Given the description of an element on the screen output the (x, y) to click on. 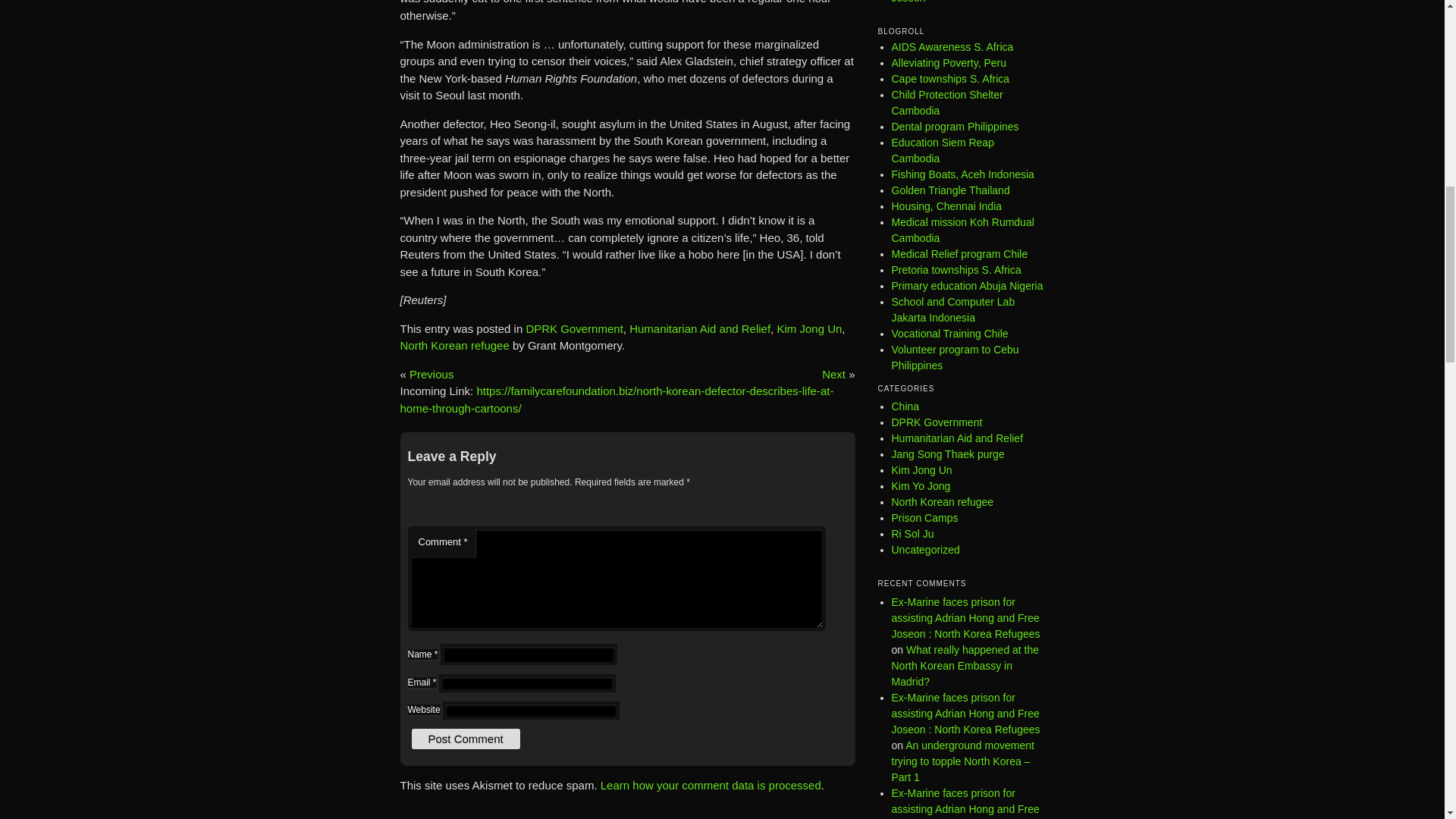
AIDS Awareness S. Africa (952, 46)
DPRK Government (574, 328)
Learn how your comment data is processed (710, 784)
Child Protection Shelter Cambodia (947, 102)
Post Comment (464, 738)
Housing, Chennai India (947, 205)
Next (833, 373)
Cape townships S. Africa (950, 78)
Kim Jong Un (808, 328)
